Given the description of an element on the screen output the (x, y) to click on. 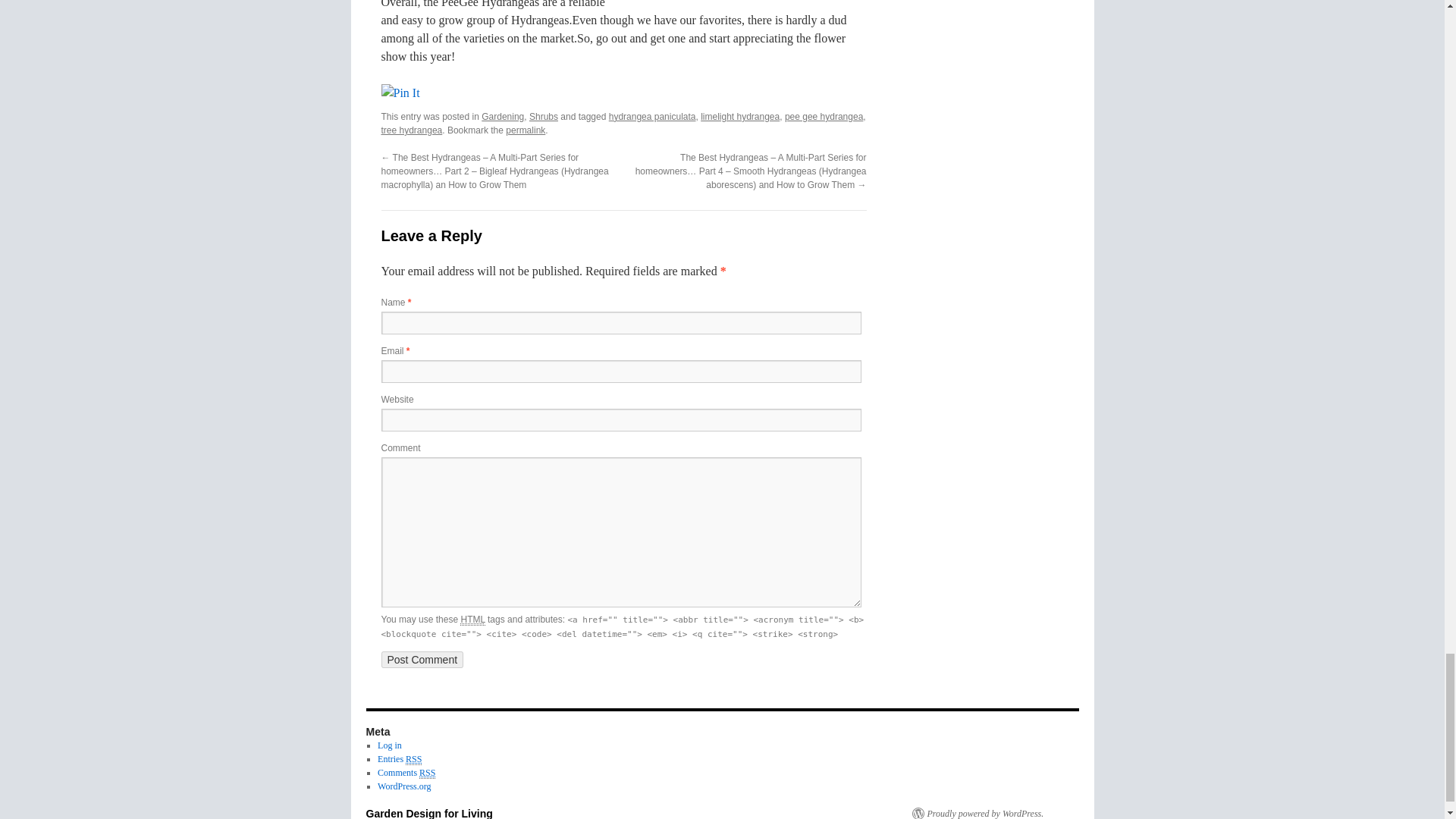
Pin It (399, 93)
Post Comment (421, 659)
